Given the description of an element on the screen output the (x, y) to click on. 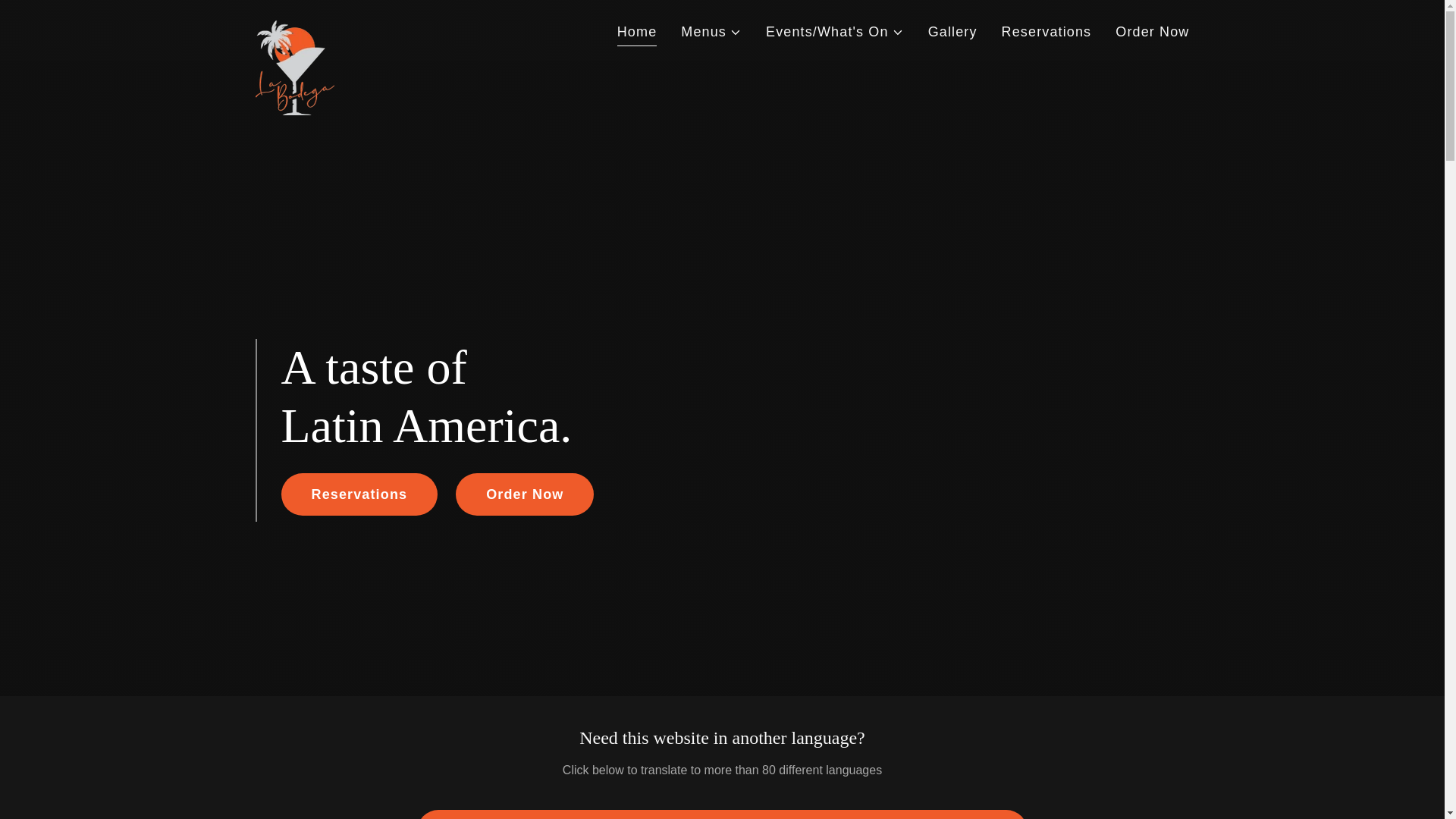
Reservations (1046, 31)
Order Now (1151, 31)
La Bodega (293, 27)
Menus (711, 32)
Reservations (359, 494)
Order Now (524, 494)
Gallery (952, 31)
Home (637, 33)
